Given the description of an element on the screen output the (x, y) to click on. 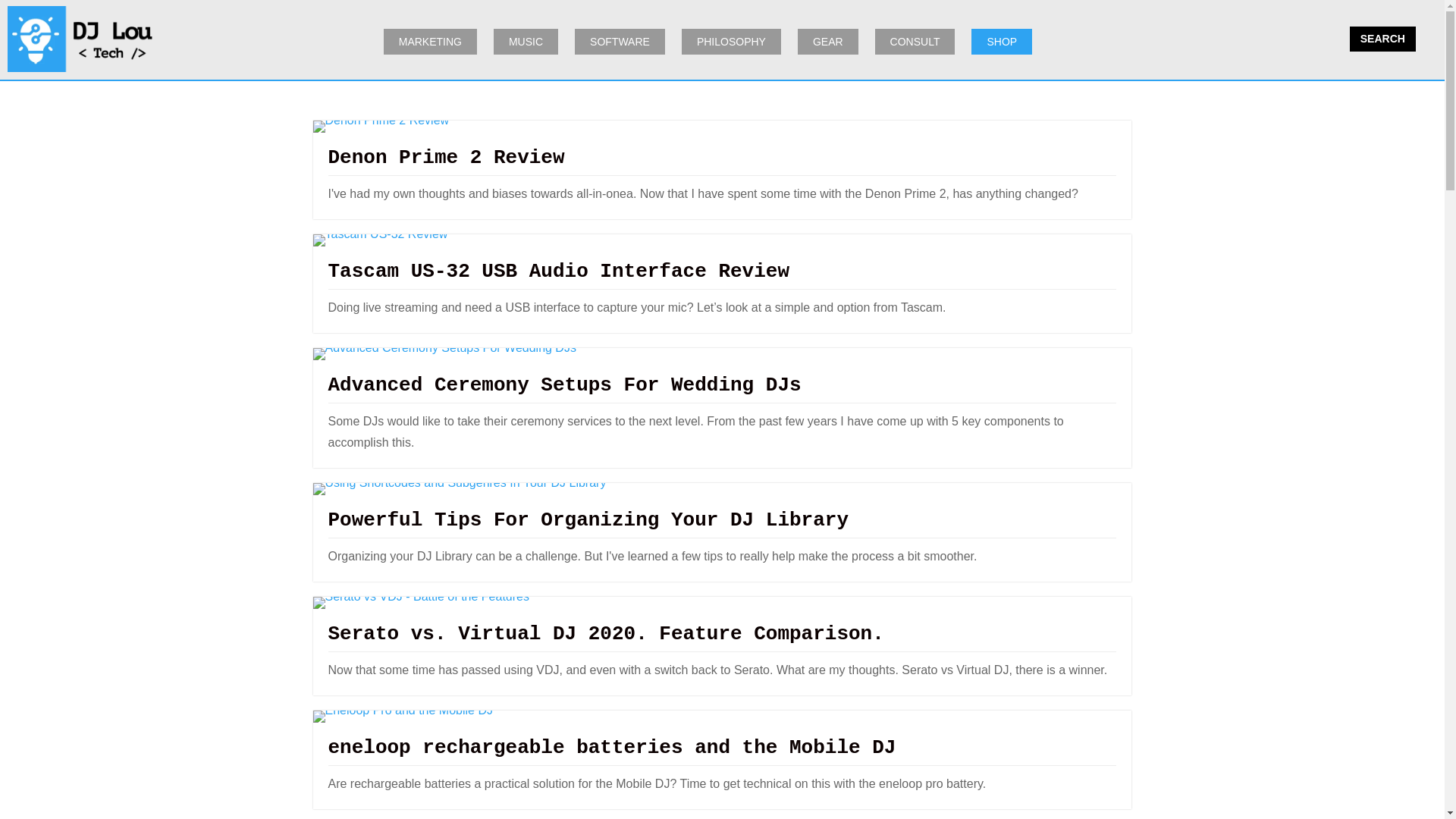
PHILOSOPHY (730, 41)
SHOP (1001, 41)
SEARCH (1382, 38)
Advanced Ceremony Setups For Wedding DJs (563, 384)
Serato vs. Virtual DJ 2020. Feature Comparison. (605, 633)
CONSULT (915, 41)
Denon Prime 2 Review (445, 157)
GEAR (828, 41)
SOFTWARE (620, 41)
Tascam US-32 USB Audio Interface Review (558, 271)
